Given the description of an element on the screen output the (x, y) to click on. 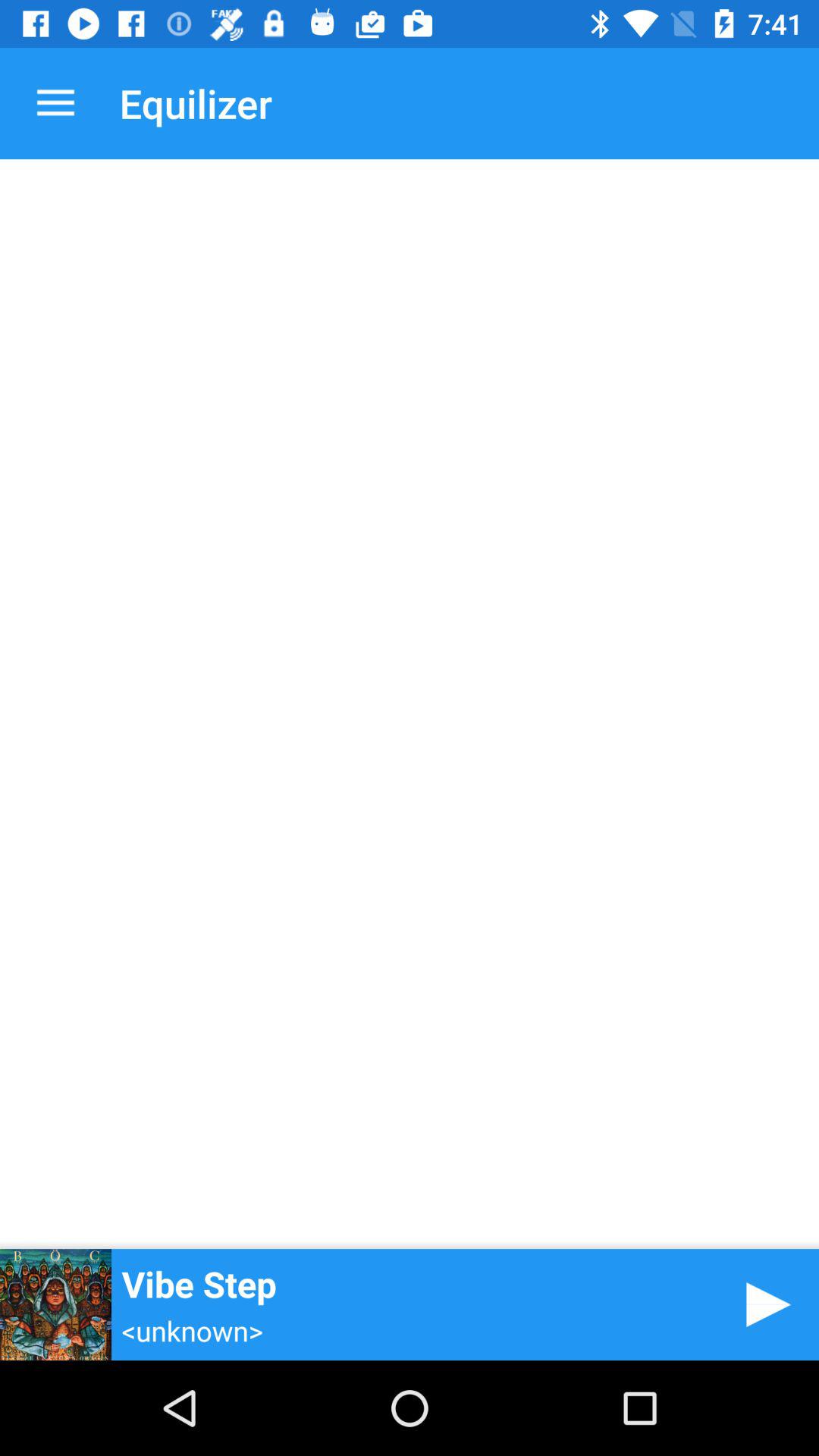
play song (763, 1304)
